Given the description of an element on the screen output the (x, y) to click on. 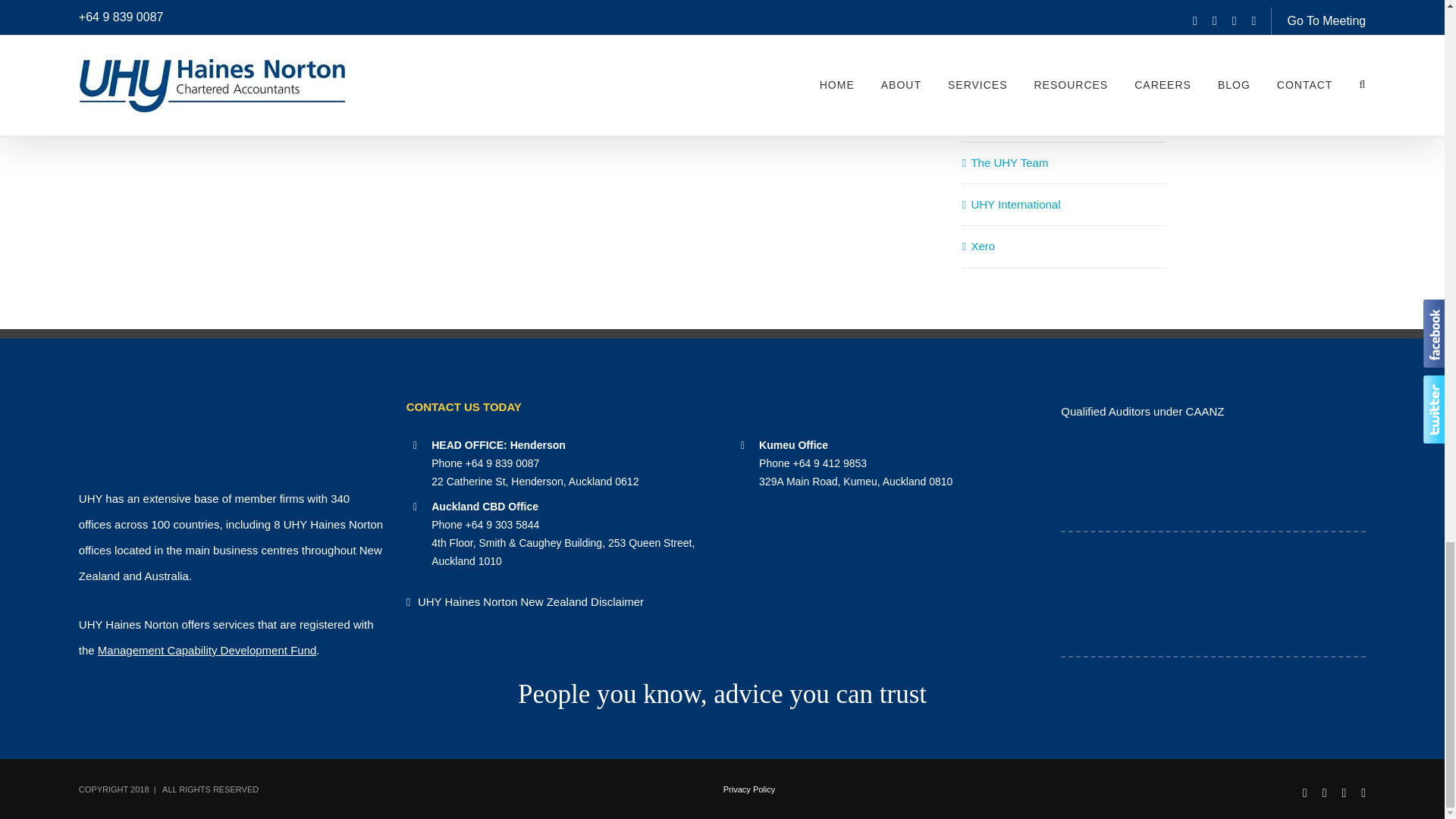
RECKON (1292, 598)
easybooks (1305, 687)
FORUM (1134, 682)
CA (1134, 474)
MYOB (1134, 593)
XERO (1292, 461)
